Given the description of an element on the screen output the (x, y) to click on. 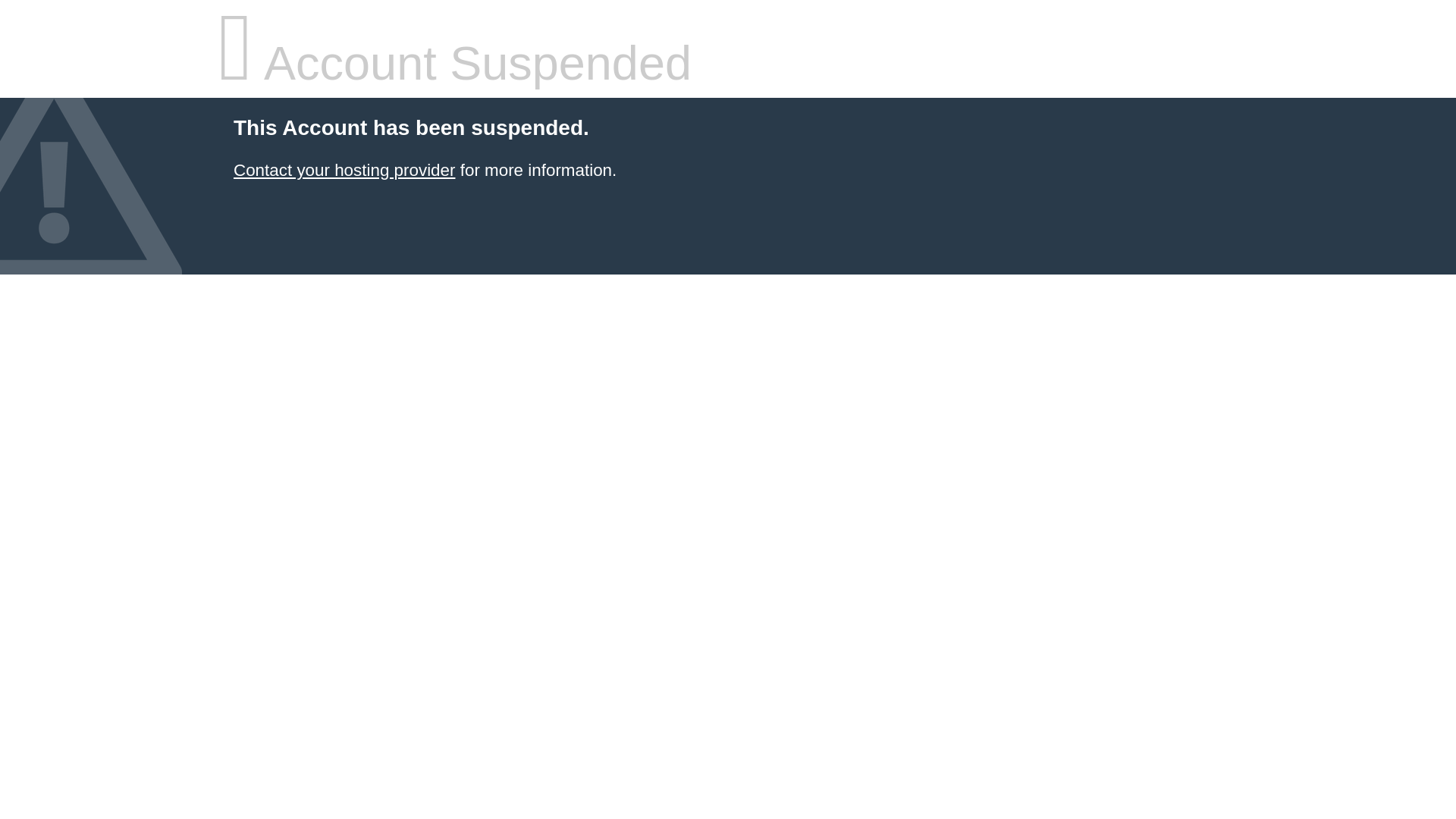
Contact your hosting provider (343, 169)
